Given the description of an element on the screen output the (x, y) to click on. 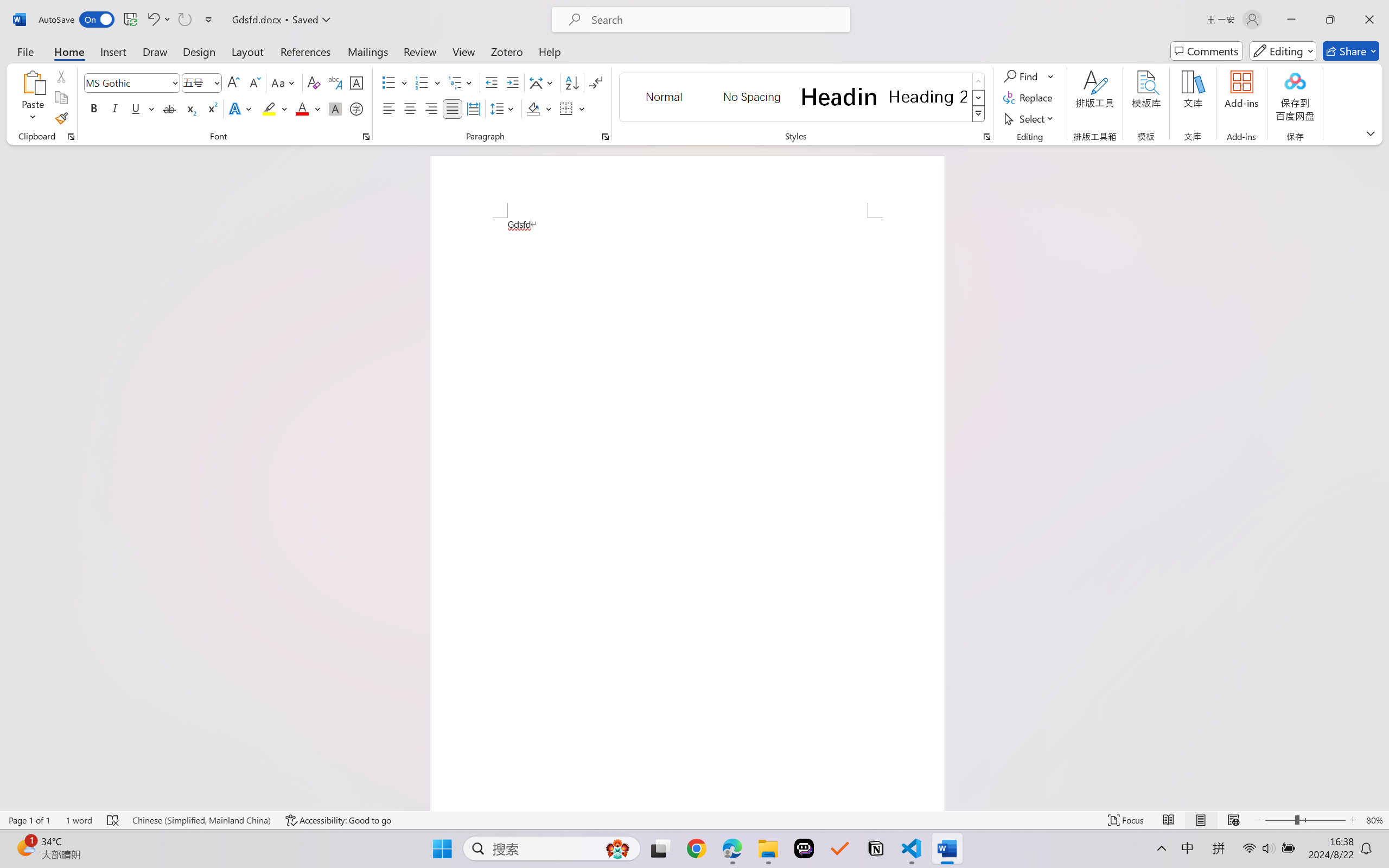
AutomationID: QuickStylesGallery (802, 97)
